Given the description of an element on the screen output the (x, y) to click on. 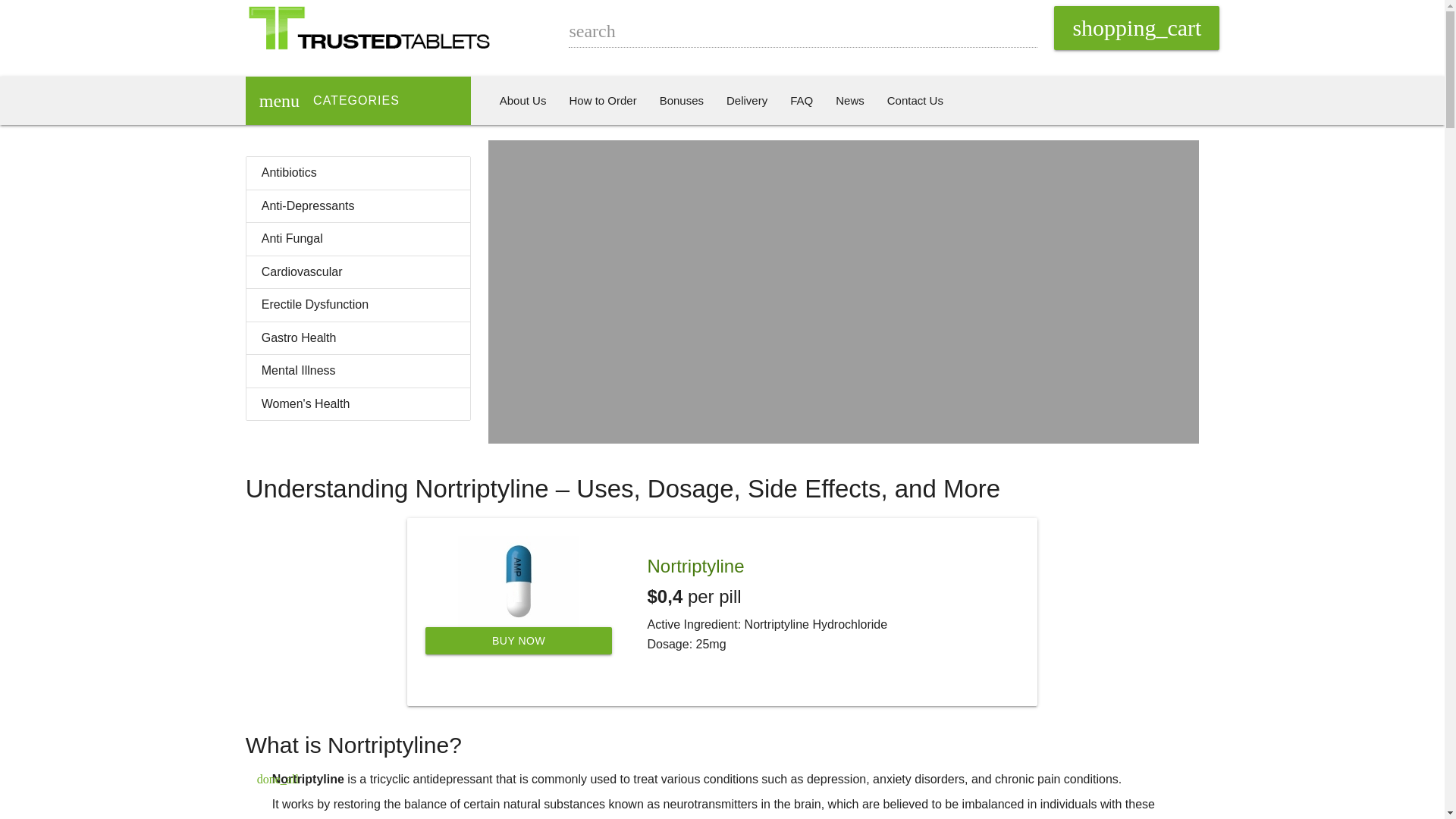
Buy Now (518, 640)
Delivery (746, 100)
Contact Us (915, 100)
Bonuses (680, 100)
FAQ (801, 100)
How to Order (602, 100)
News (850, 100)
Nortriptyline (695, 566)
About Us (522, 100)
